Given the description of an element on the screen output the (x, y) to click on. 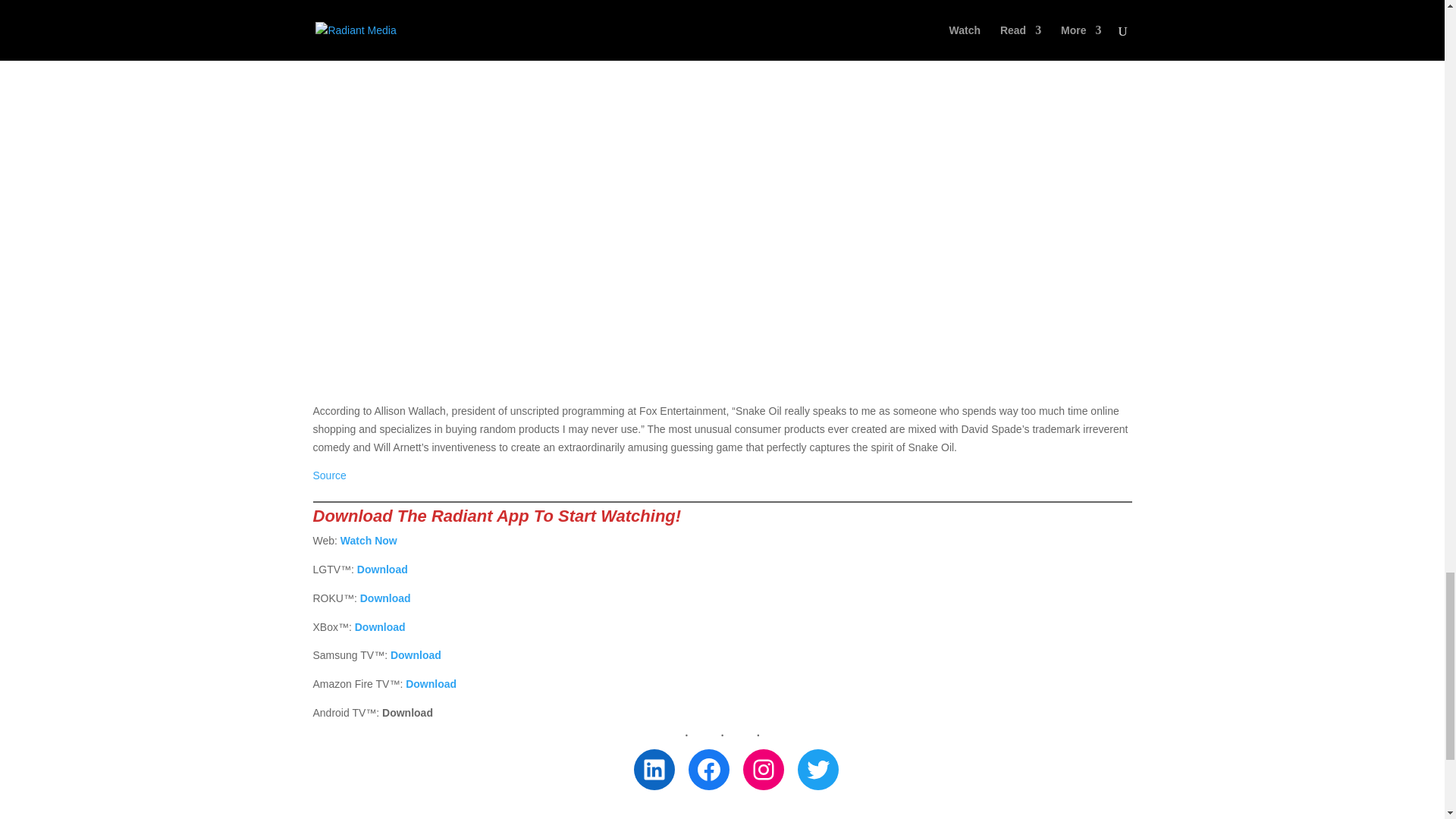
Source (329, 475)
Watch Now (368, 540)
Download (415, 654)
Download (381, 569)
Download (380, 626)
Facebook (708, 769)
Download (431, 684)
Twitter (817, 769)
Download (384, 598)
Instagram (763, 769)
